Given the description of an element on the screen output the (x, y) to click on. 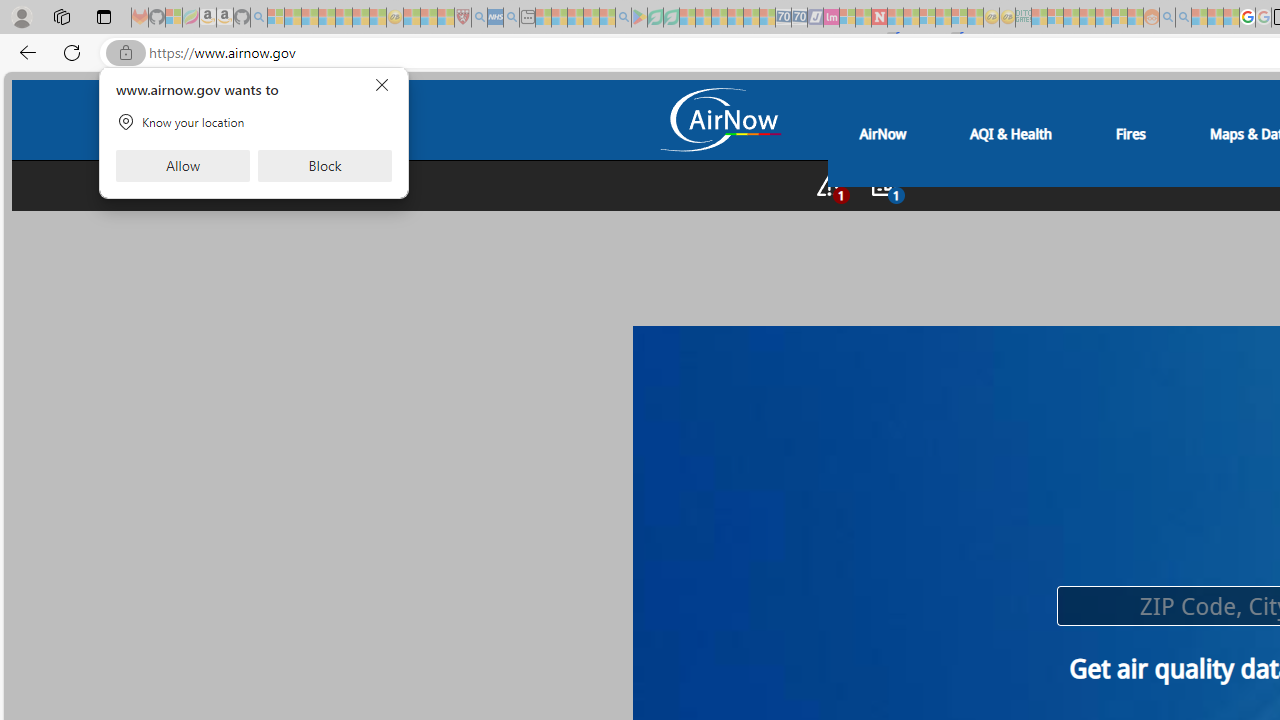
Allow (182, 165)
Air Now Logo (719, 119)
